Given the description of an element on the screen output the (x, y) to click on. 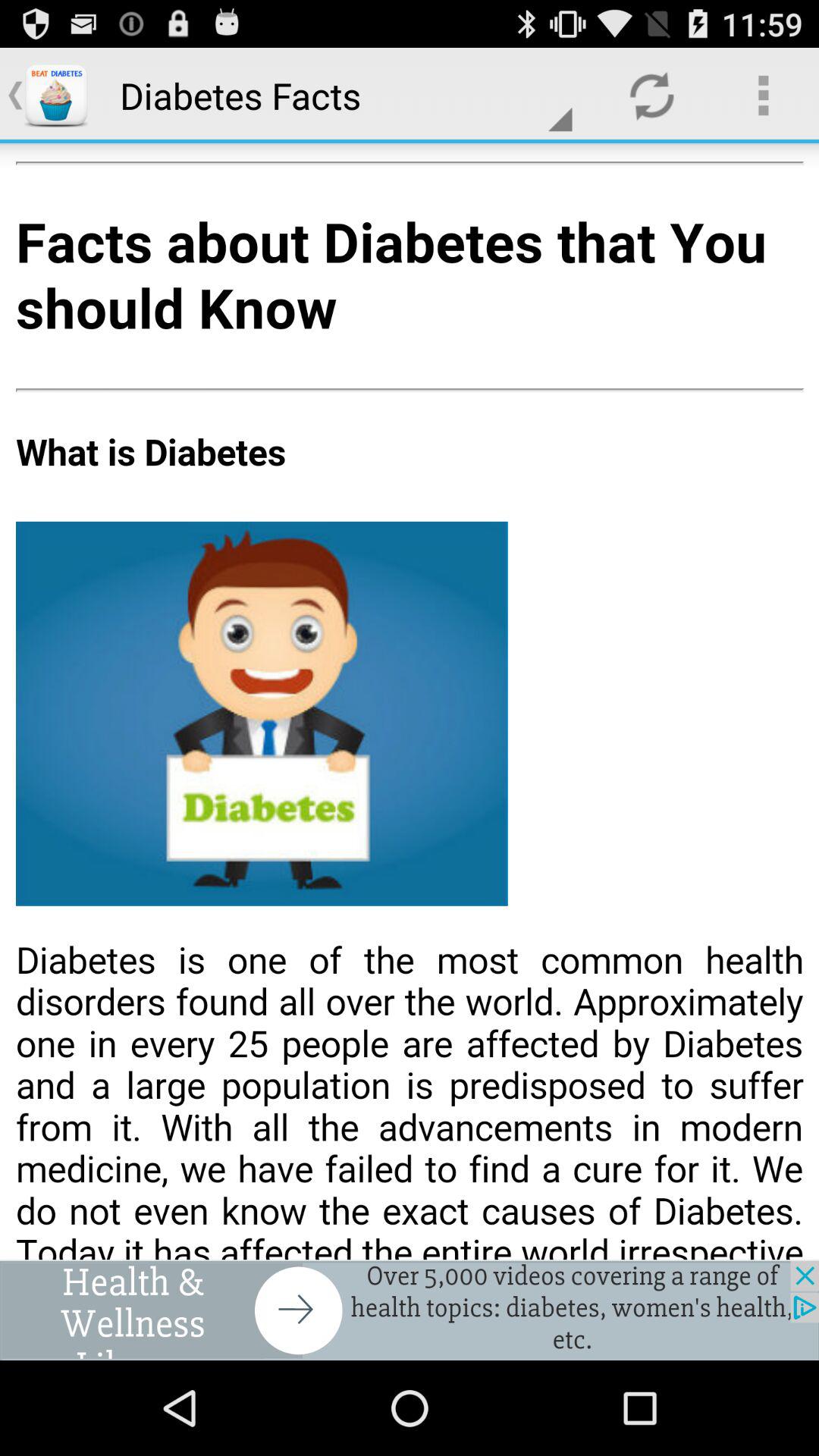
advertisement bar (409, 1310)
